Given the description of an element on the screen output the (x, y) to click on. 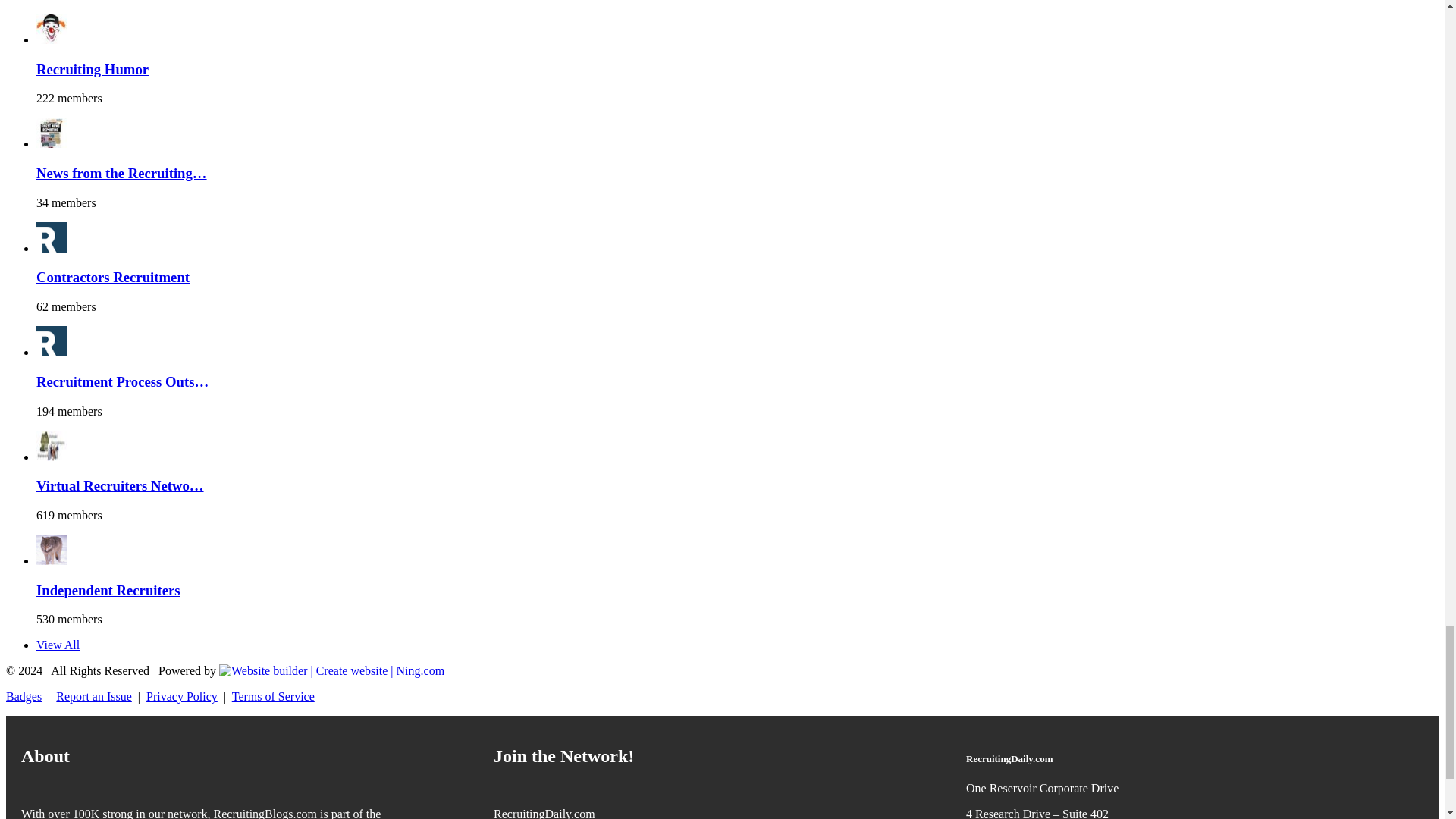
Ning Website Builder (331, 671)
